Given the description of an element on the screen output the (x, y) to click on. 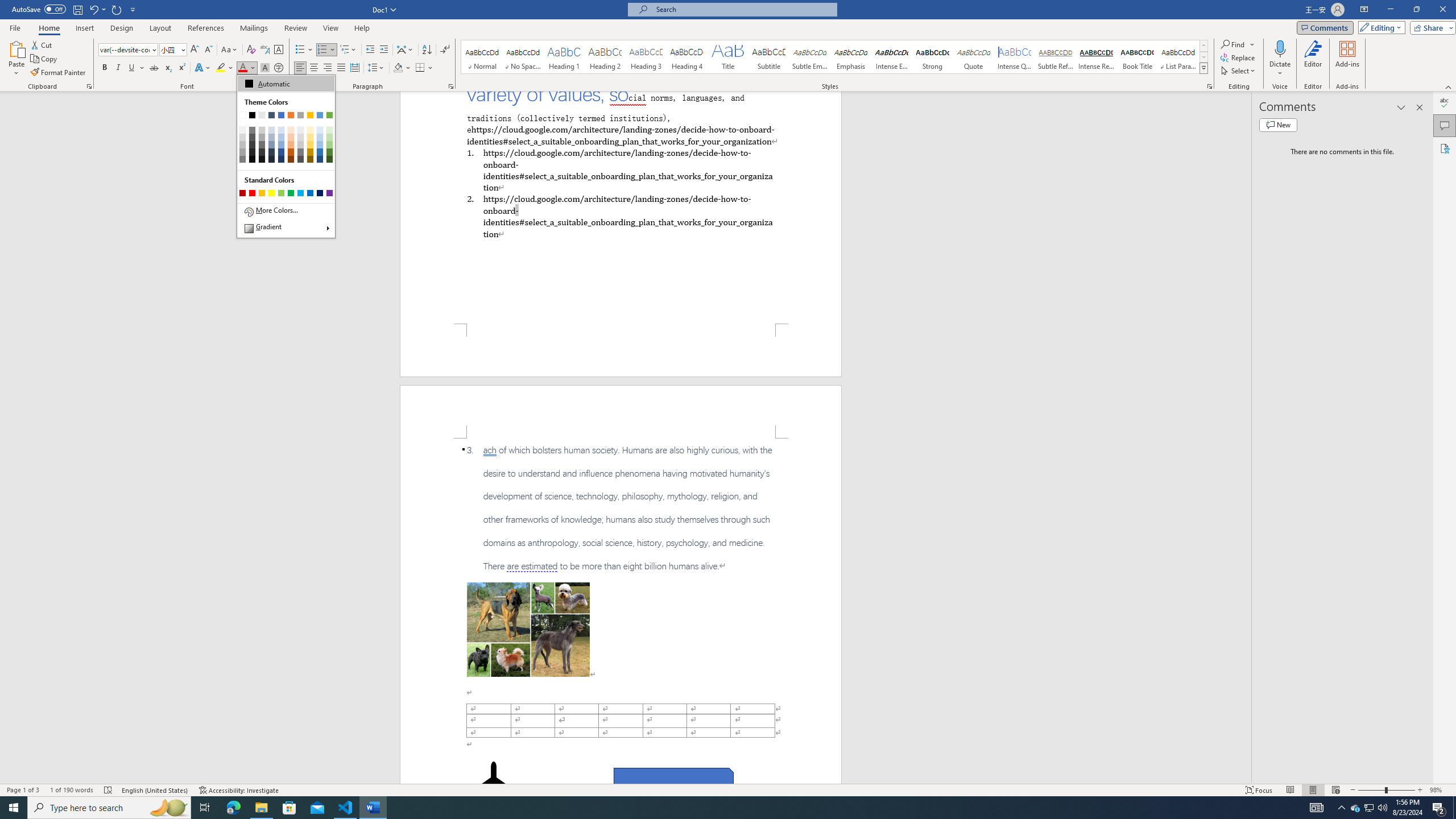
Morphological variation in six dogs (528, 629)
Subtle Emphasis (809, 56)
Intense Emphasis (891, 56)
Intense Reference (1095, 56)
